Given the description of an element on the screen output the (x, y) to click on. 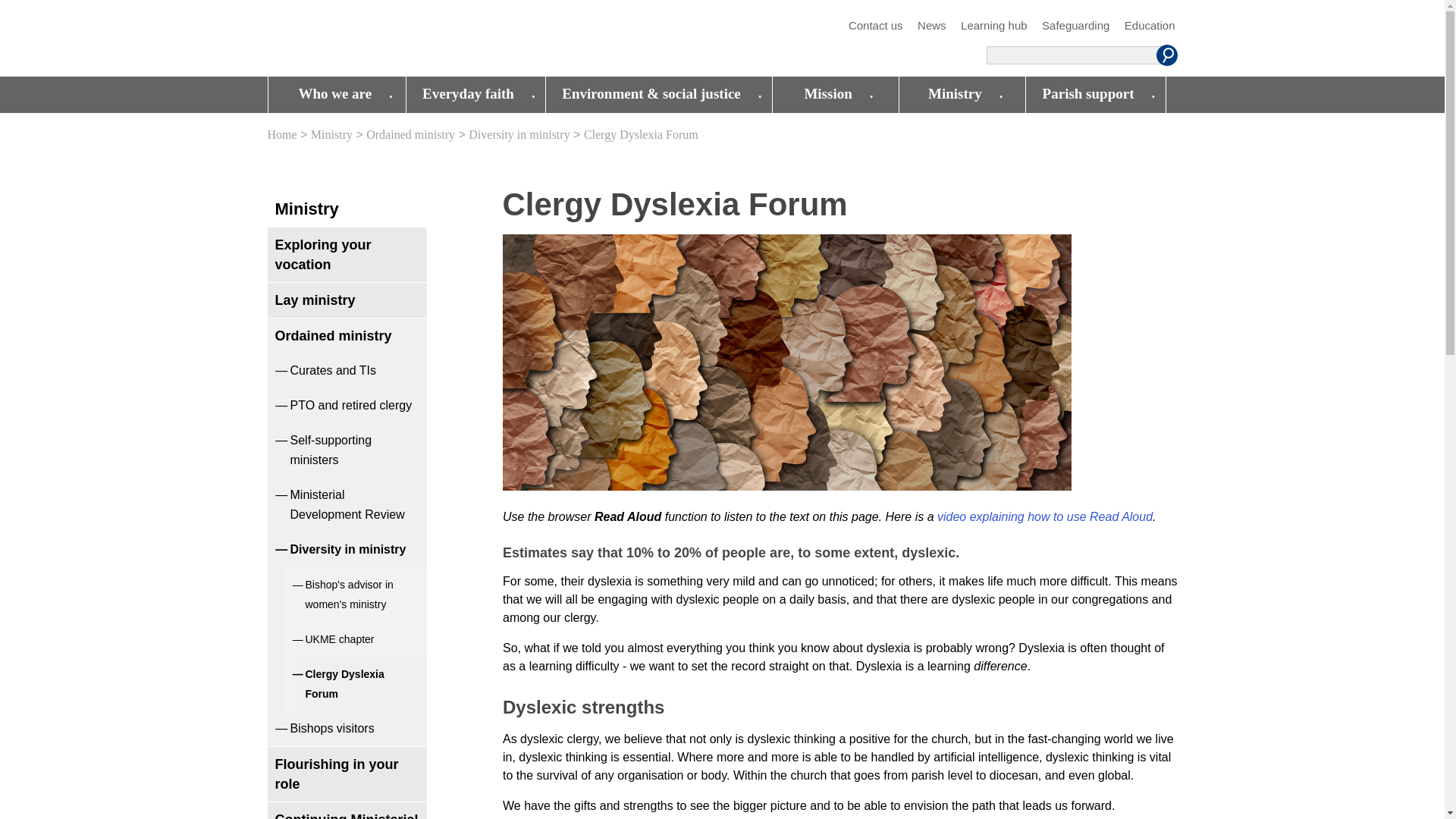
Diocese of Oxford Logo (376, 39)
Safeguarding (1075, 25)
Education (1149, 25)
News (931, 25)
Learning hub (993, 25)
Contact us (875, 25)
